Given the description of an element on the screen output the (x, y) to click on. 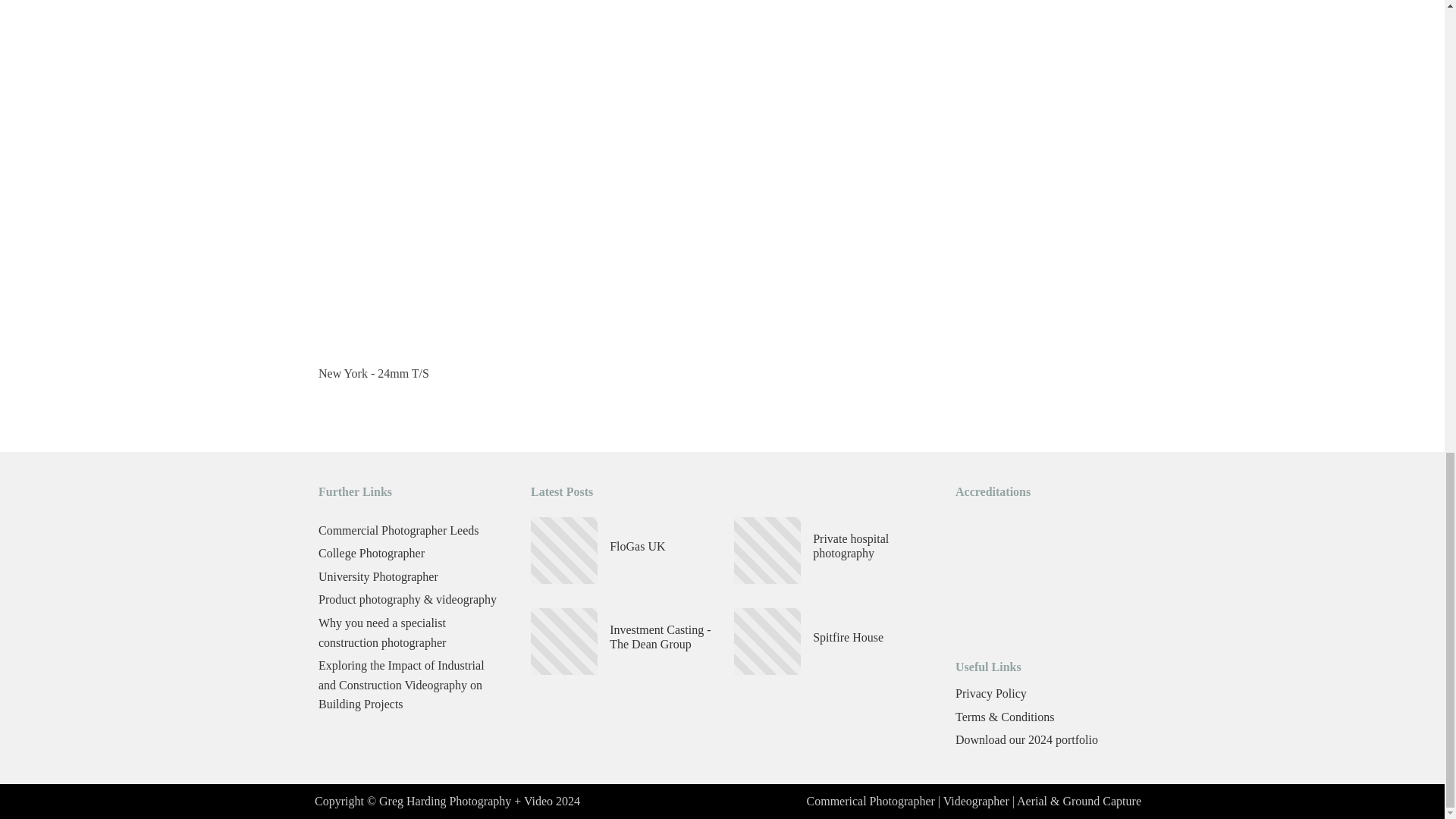
Private hospital photography (868, 545)
Investment Casting - The Dean Group (666, 636)
College Photographer (409, 555)
University Photographer (409, 578)
Commercial Photographer Leeds (409, 532)
FloGas UK (637, 545)
Why you need a specialist construction photographer (409, 634)
